Given the description of an element on the screen output the (x, y) to click on. 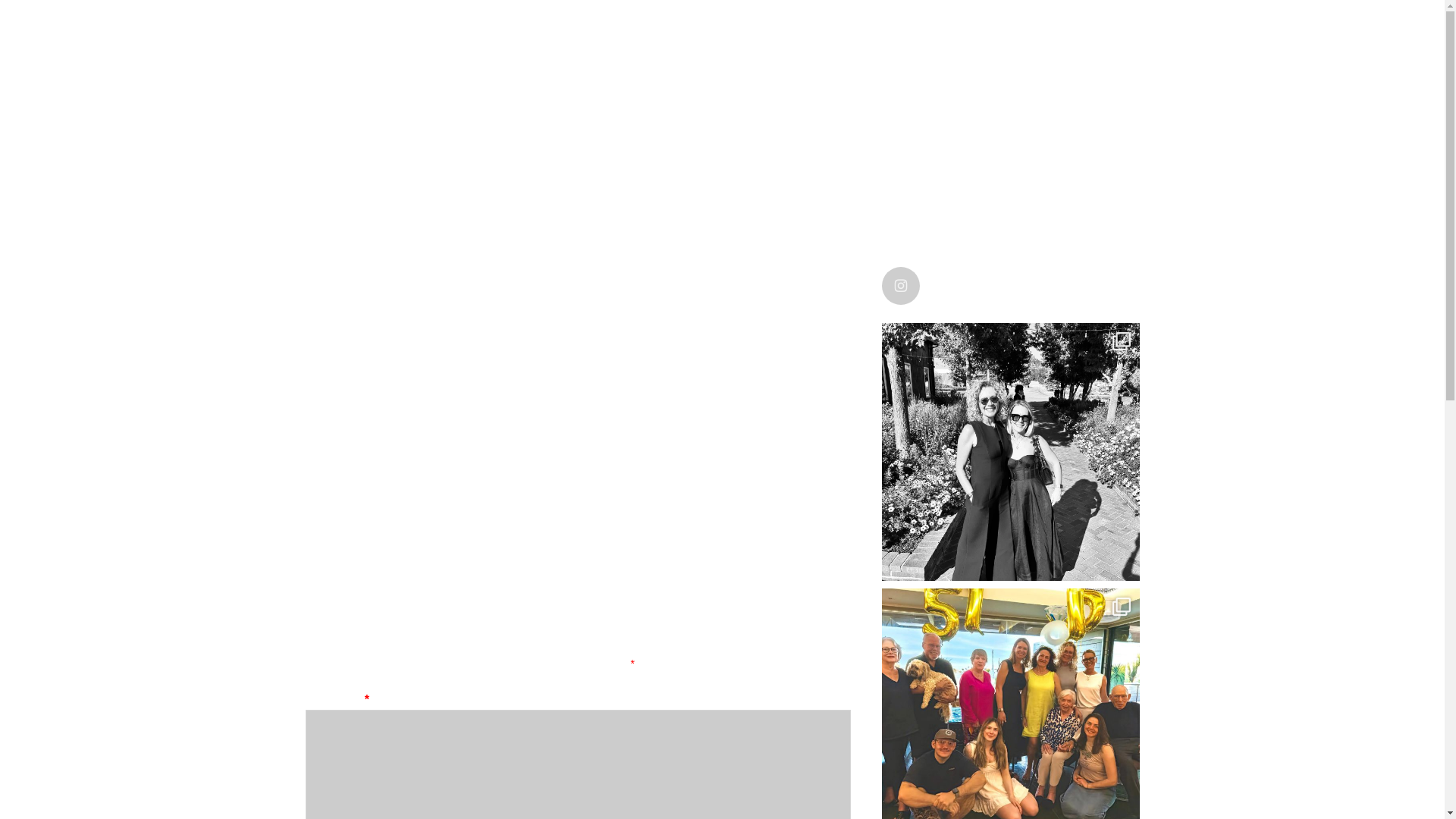
APRIL 3, 2009 (335, 564)
BLOG (477, 307)
SARAH DASHEW (677, 22)
CRUISING MUSIC (368, 307)
VIDEOS (884, 22)
GIGS (612, 22)
CONTACT (550, 22)
HOME (1052, 22)
BIO (381, 22)
